Given the description of an element on the screen output the (x, y) to click on. 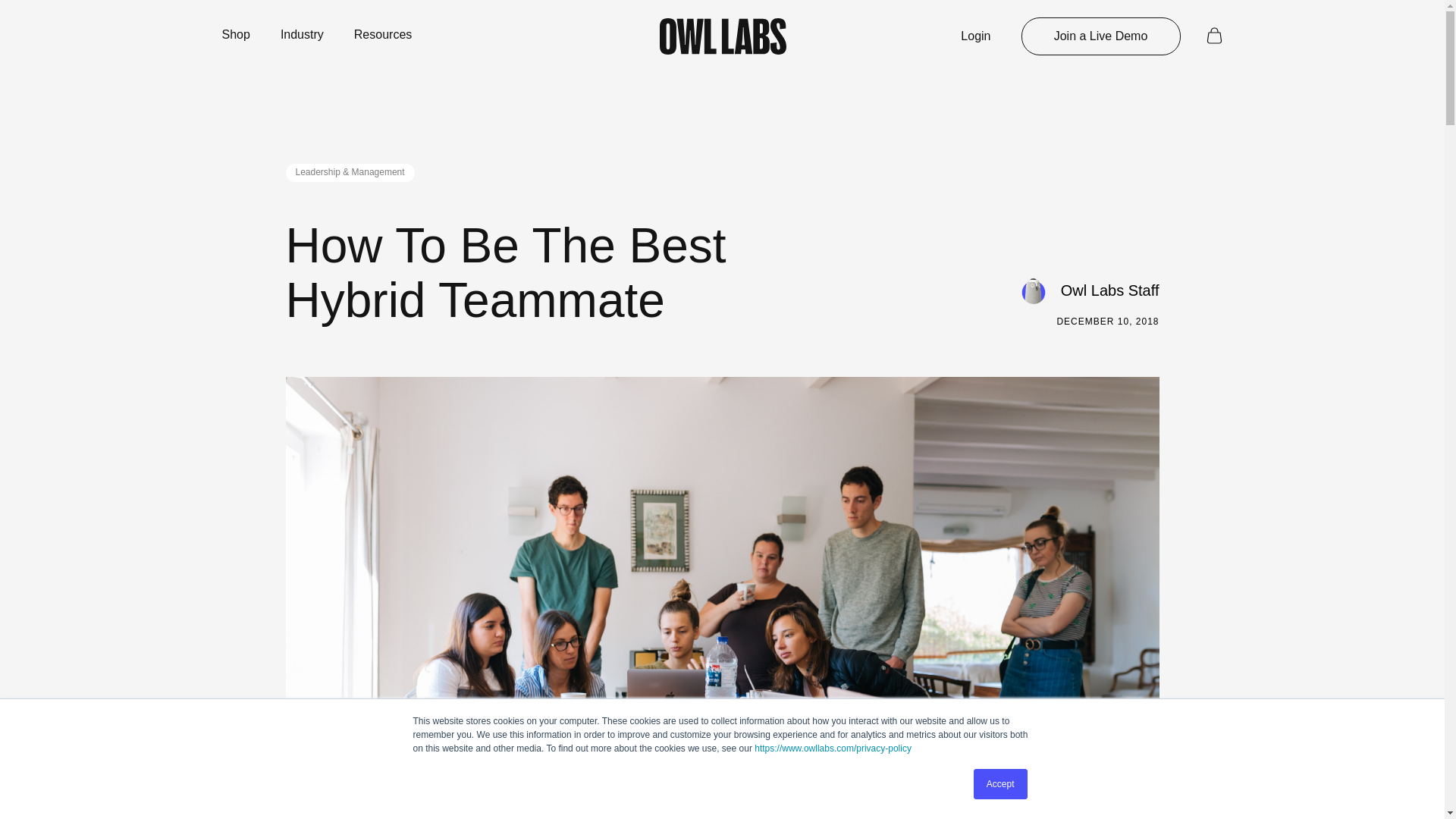
Accept (1000, 784)
Login (975, 35)
Join a Live Demo (1099, 36)
